Given the description of an element on the screen output the (x, y) to click on. 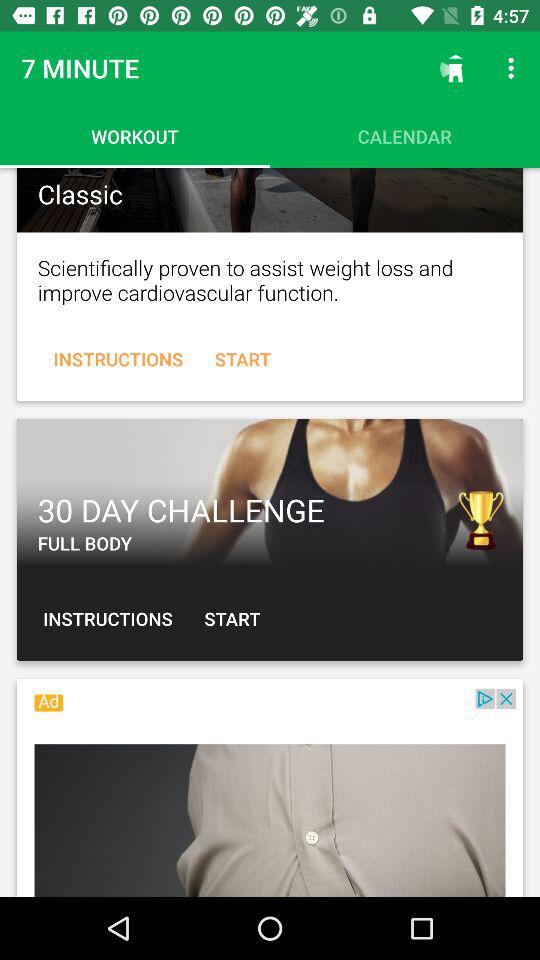
advertisement display (269, 492)
